Given the description of an element on the screen output the (x, y) to click on. 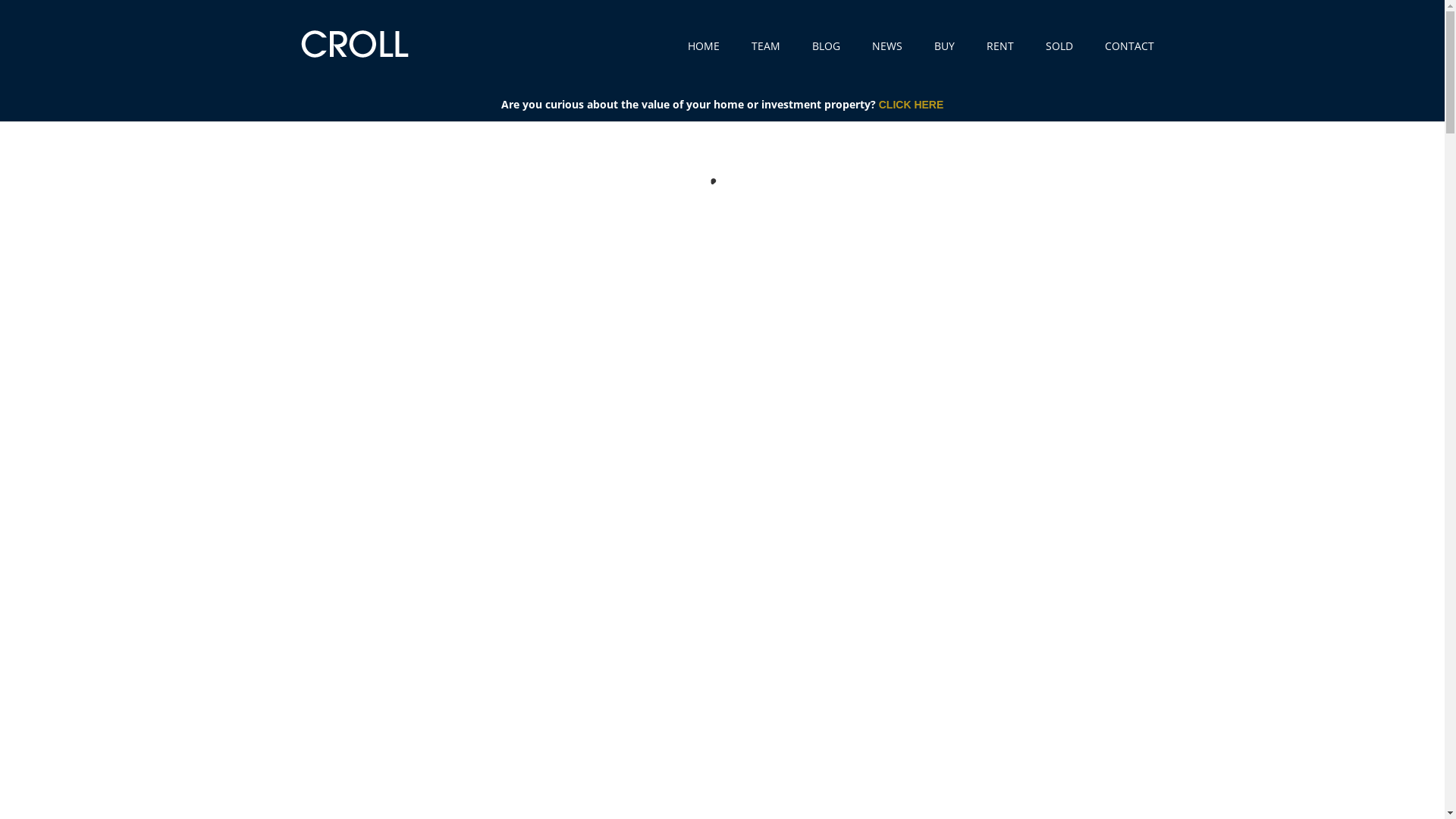
CLICK HERE Element type: text (911, 104)
SOLD Element type: text (1058, 60)
NEWS Element type: text (886, 60)
BLOG Element type: text (825, 60)
CONTACT Element type: text (1128, 60)
BUY Element type: text (944, 60)
HOME Element type: text (702, 60)
TEAM Element type: text (764, 60)
RENT Element type: text (999, 60)
